Given the description of an element on the screen output the (x, y) to click on. 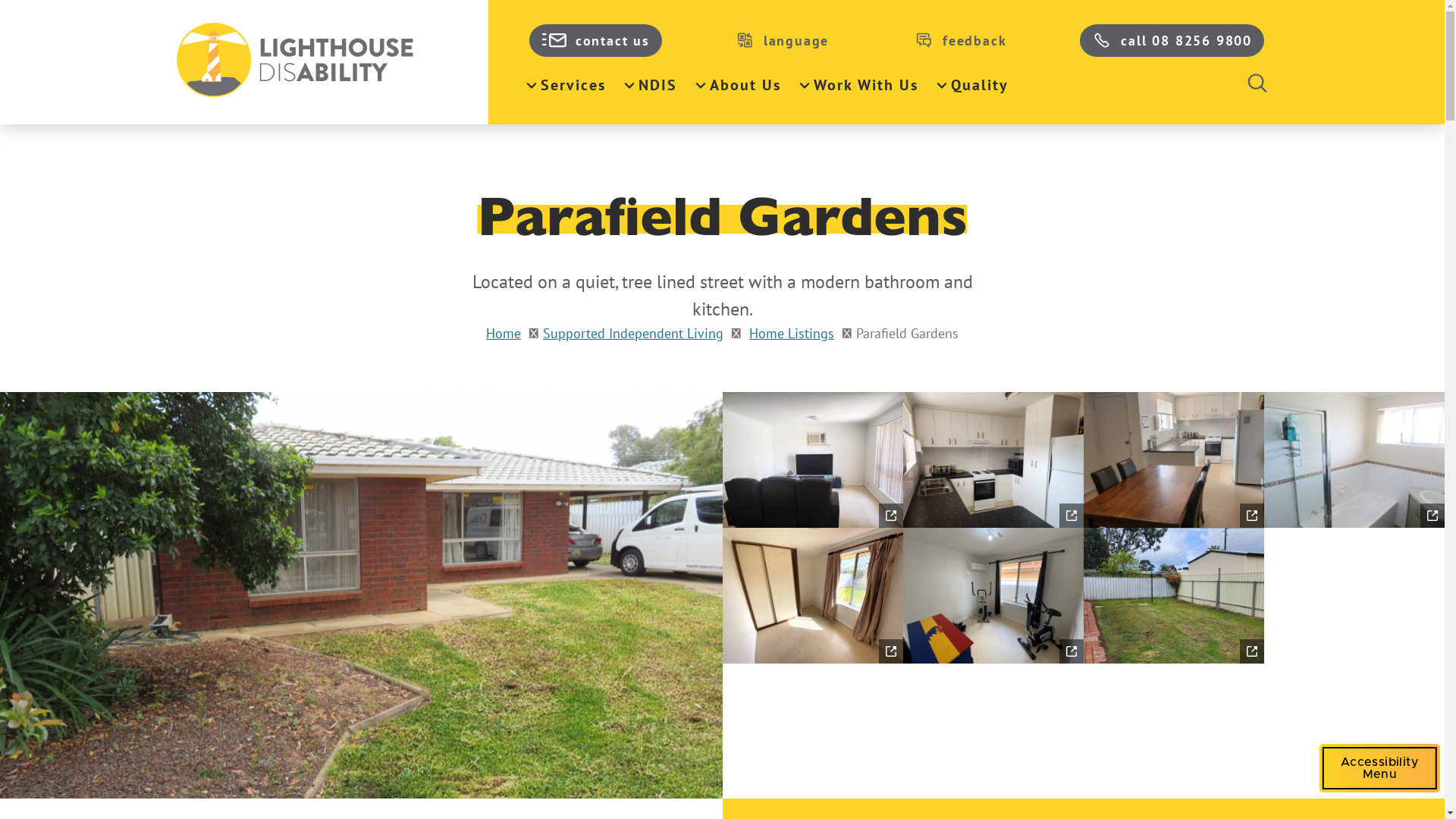
Quality Element type: text (972, 85)
Services Element type: text (566, 85)
Search Element type: hover (1257, 84)
Supported Independent Living Element type: text (632, 333)
About Us Element type: text (738, 85)
call 08 8256 9800 Element type: text (1171, 40)
NDIS Element type: text (650, 85)
feedback Element type: text (960, 40)
language Element type: text (781, 40)
Lighthouse Disability Element type: hover (319, 61)
contact us Element type: text (595, 40)
Work With Us Element type: text (858, 85)
Home Element type: text (503, 333)
Home Listings Element type: text (791, 333)
